Given the description of an element on the screen output the (x, y) to click on. 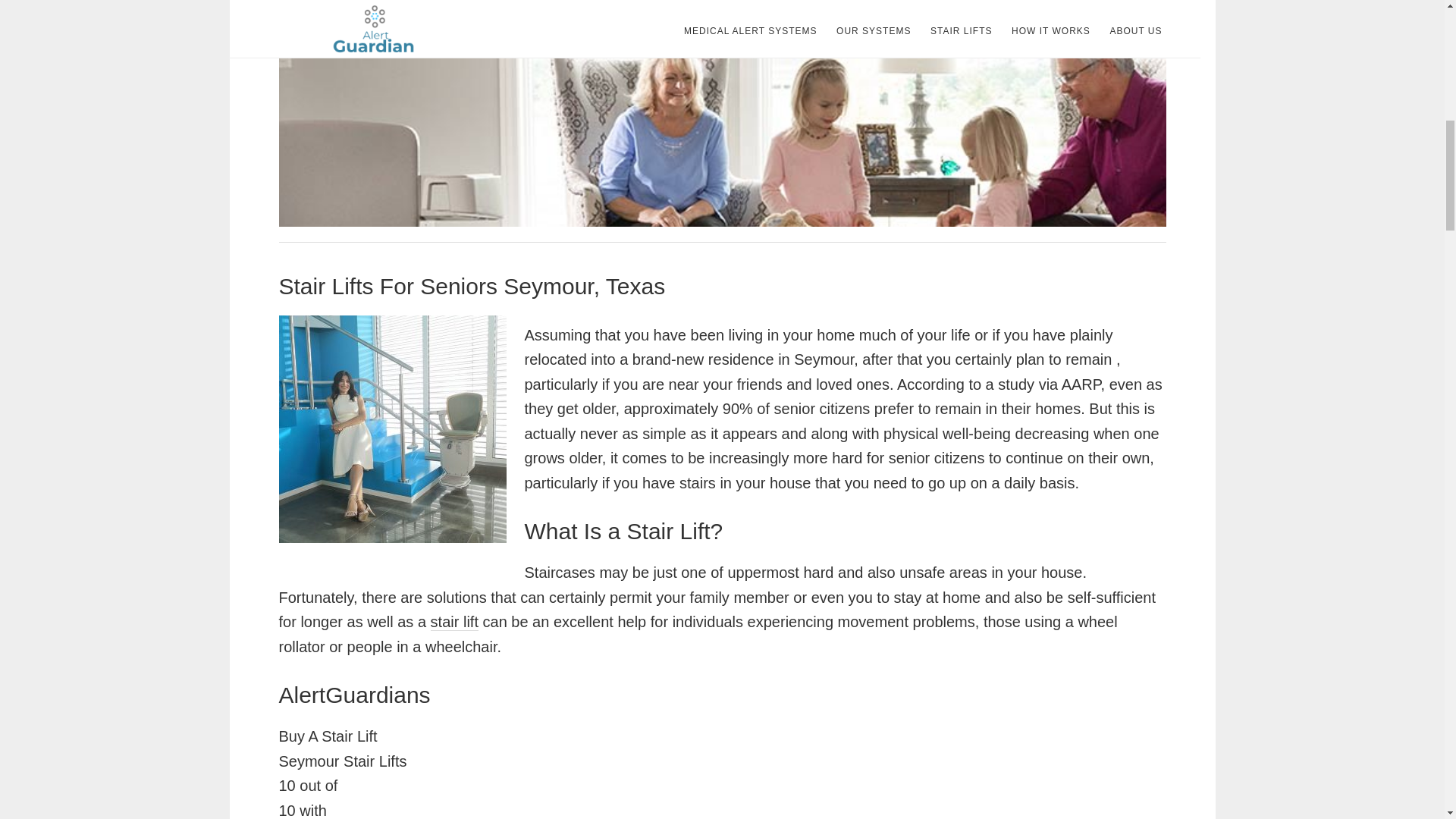
stair lift (454, 621)
